Given the description of an element on the screen output the (x, y) to click on. 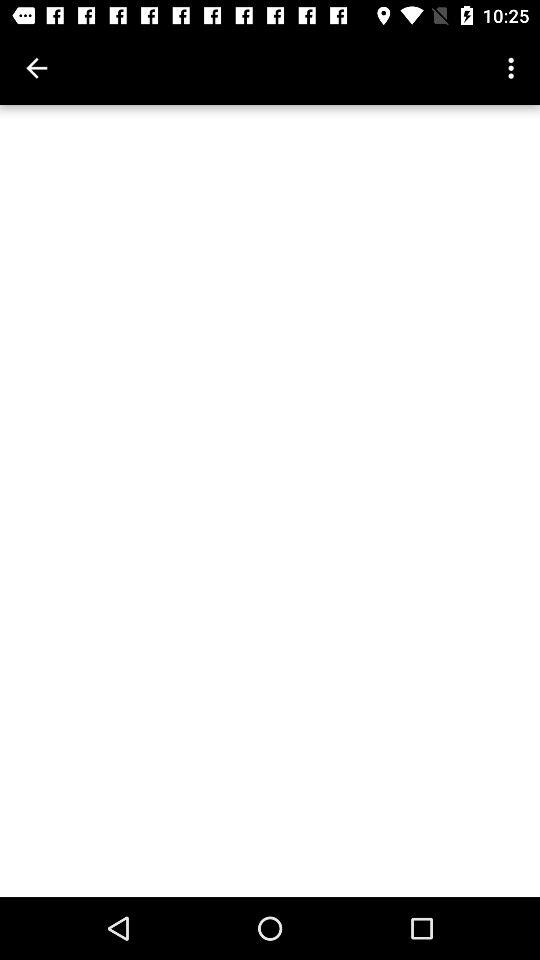
choose the icon at the top right corner (513, 67)
